Given the description of an element on the screen output the (x, y) to click on. 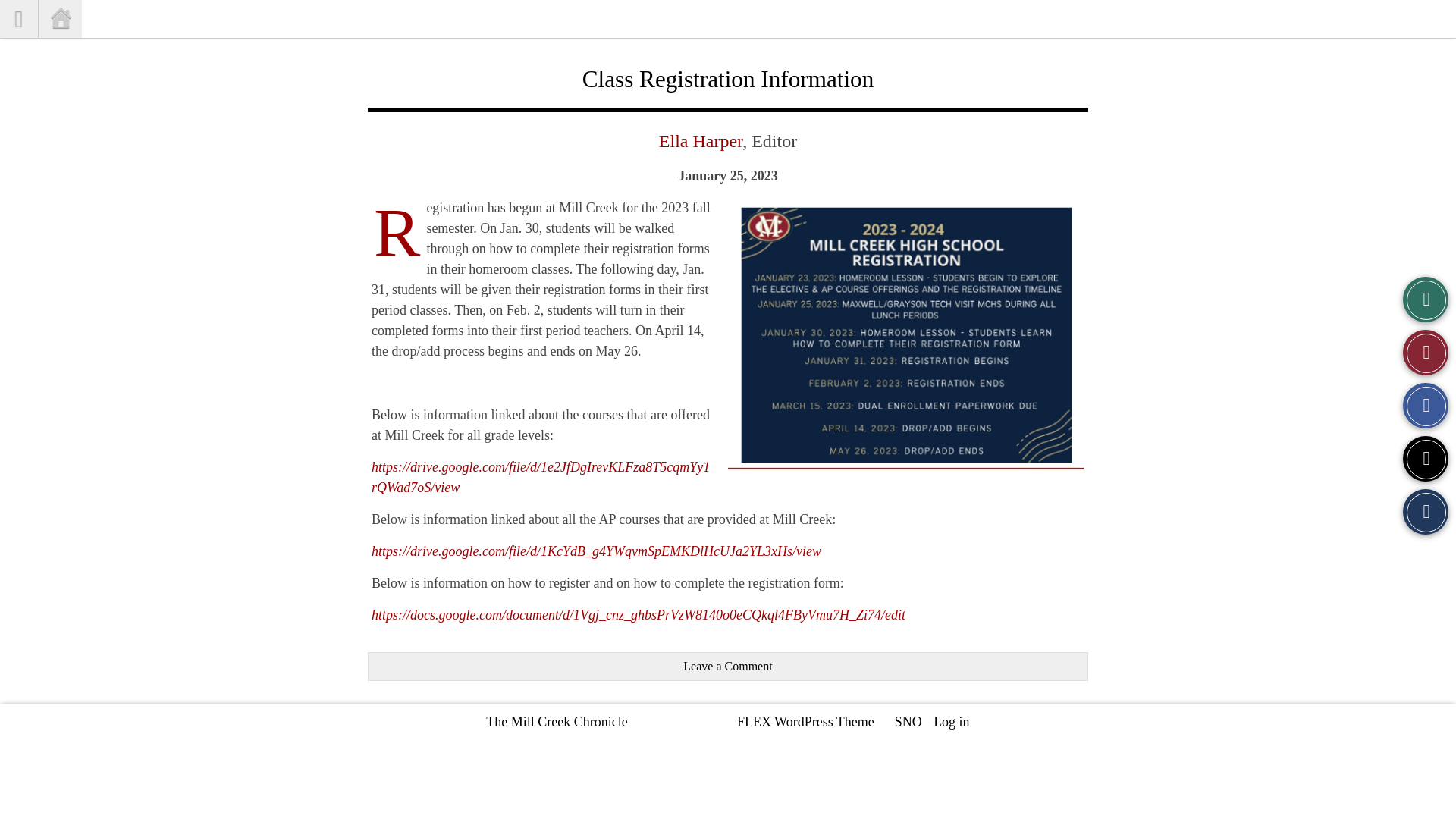
Ella Harper (700, 140)
SNO (908, 721)
Share on Facebook (1425, 405)
Log in (951, 721)
Share on Facebook (1425, 405)
Share via Email (1425, 511)
FLEX WordPress Theme (805, 721)
The Mill Creek Chronicle (556, 721)
Tweet This Story (1425, 458)
Email this Story (1425, 511)
Share on X (1425, 458)
